Given the description of an element on the screen output the (x, y) to click on. 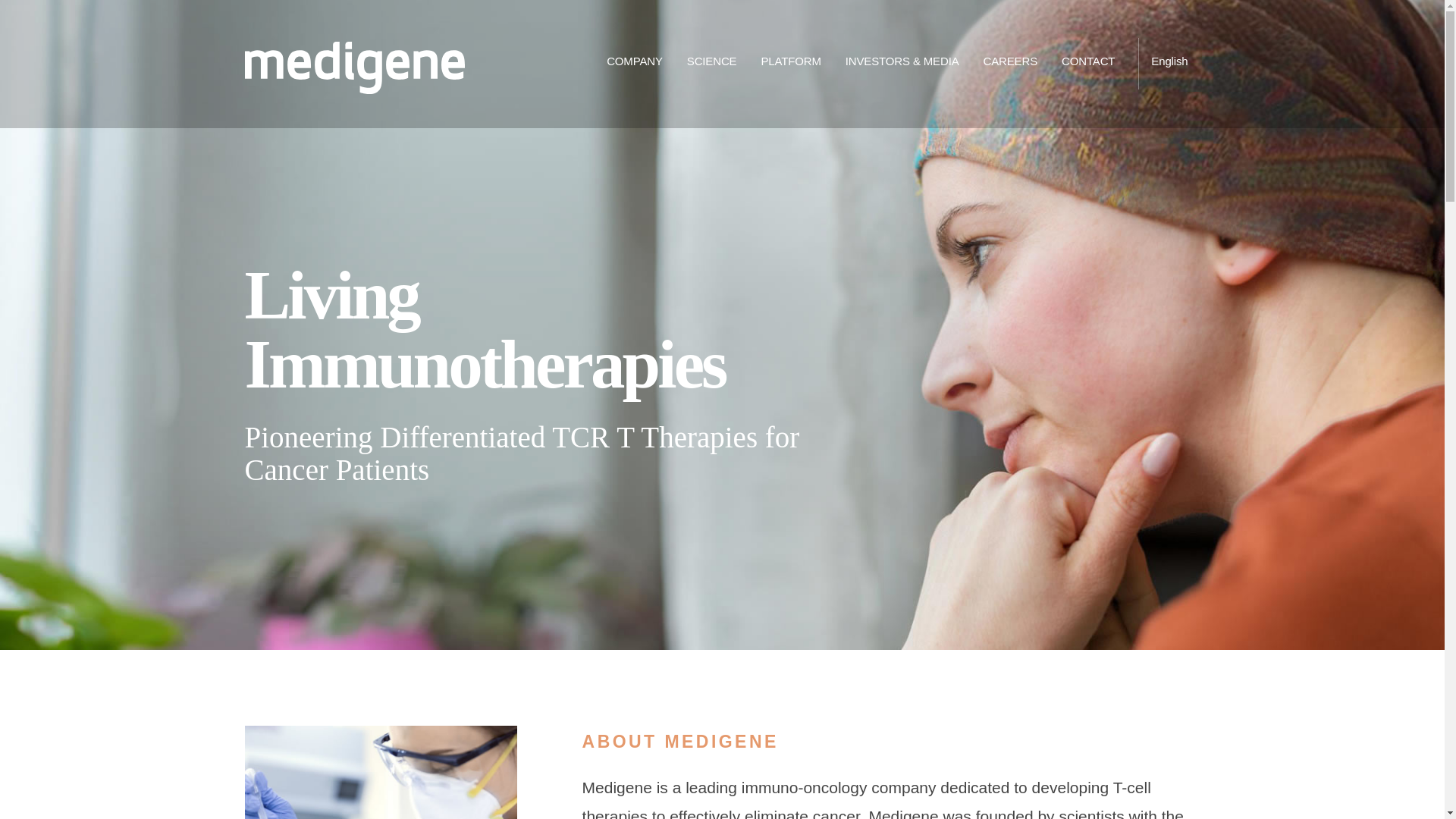
English Element type: text (1169, 63)
INVESTORS & MEDIA Element type: text (902, 63)
PLATFORM Element type: text (790, 63)
COMPANY Element type: text (634, 63)
SCIENCE Element type: text (712, 63)
CONTACT Element type: text (1087, 63)
CAREERS Element type: text (1010, 63)
